Given the description of an element on the screen output the (x, y) to click on. 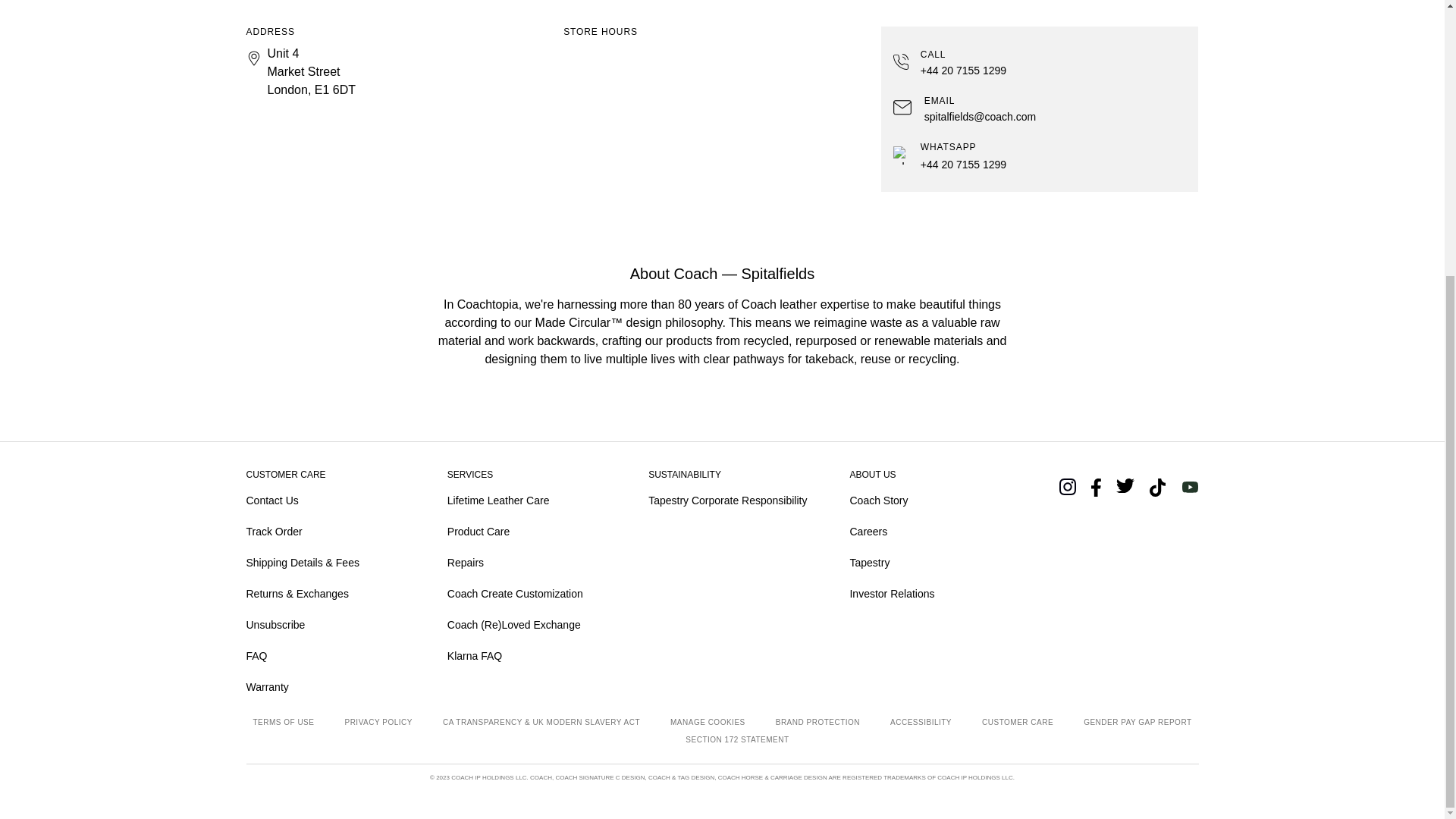
Track Order (325, 531)
Contact Us (325, 500)
Warranty (325, 687)
FAQ (325, 656)
Unsubscribe (325, 625)
